Given the description of an element on the screen output the (x, y) to click on. 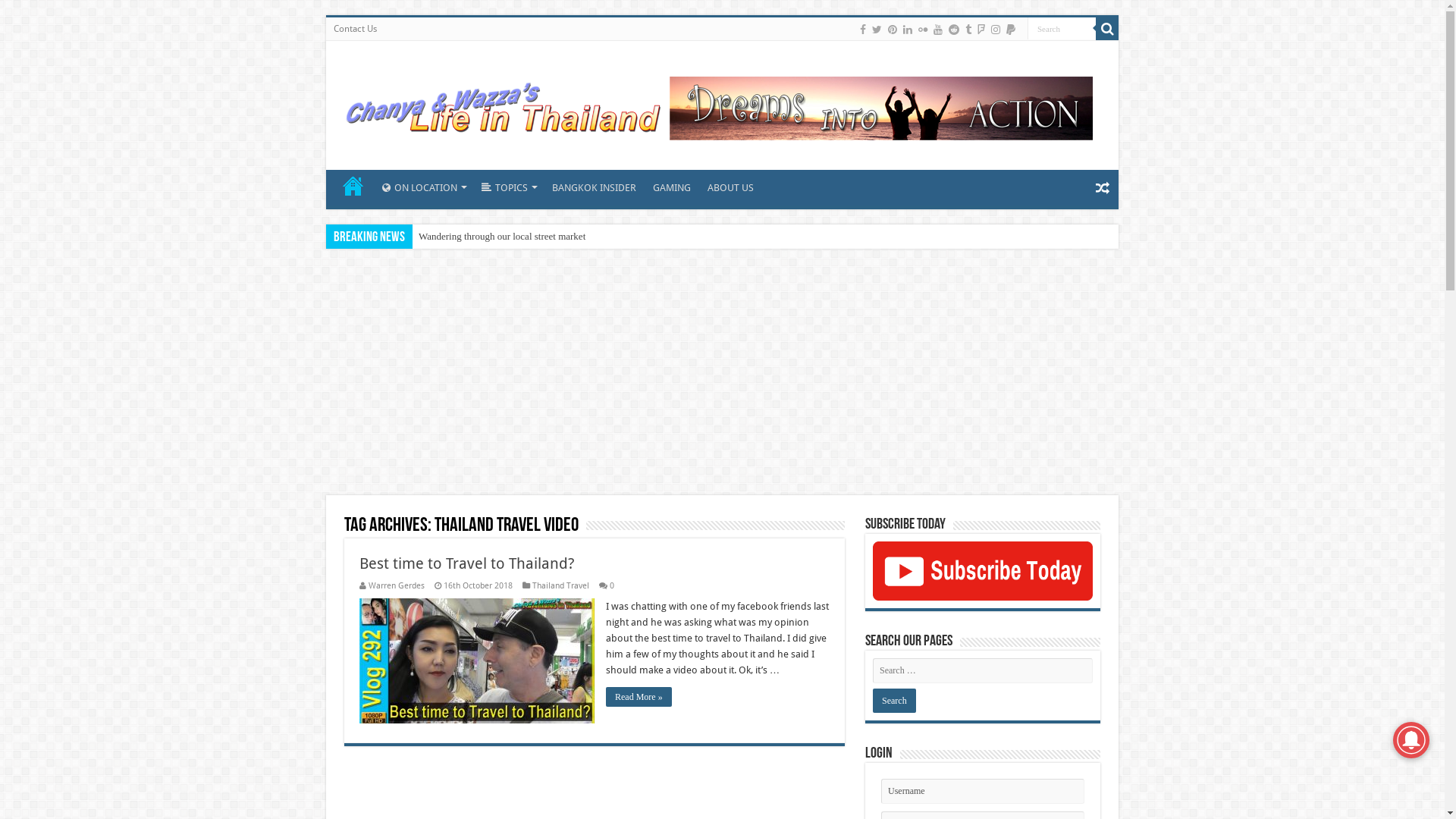
GAMING Element type: text (671, 185)
LinkedIn Element type: hover (907, 29)
0 Element type: text (611, 585)
instagram Element type: hover (995, 29)
BANGKOK INSIDER Element type: text (593, 185)
Pinterest Element type: hover (892, 29)
Flickr Element type: hover (922, 29)
Foursquare Element type: hover (980, 29)
HOME Element type: text (353, 185)
Search Element type: text (894, 700)
Twitter Element type: hover (876, 29)
Chanya & Wazza's Adventures in Thailand Element type: hover (716, 102)
Advertisement Element type: hover (721, 373)
ON LOCATION Element type: text (422, 185)
Best time to Travel to Thailand? Element type: text (466, 563)
Search Element type: text (1106, 28)
Search Element type: hover (1061, 28)
ABOUT US Element type: text (730, 185)
paypal Element type: hover (1010, 29)
Contact Us Element type: text (355, 28)
Tumblr Element type: hover (967, 29)
Reddit Element type: hover (953, 29)
TOPICS Element type: text (507, 185)
OMG! No Vegemite! Element type: text (460, 236)
Kit Teung Miss You Element type: text (457, 236)
Facebook Element type: hover (862, 29)
Thailand Travel Element type: text (560, 585)
Youtube Element type: hover (937, 29)
Username Element type: hover (982, 790)
Warren Gerdes Element type: text (396, 585)
